Given the description of an element on the screen output the (x, y) to click on. 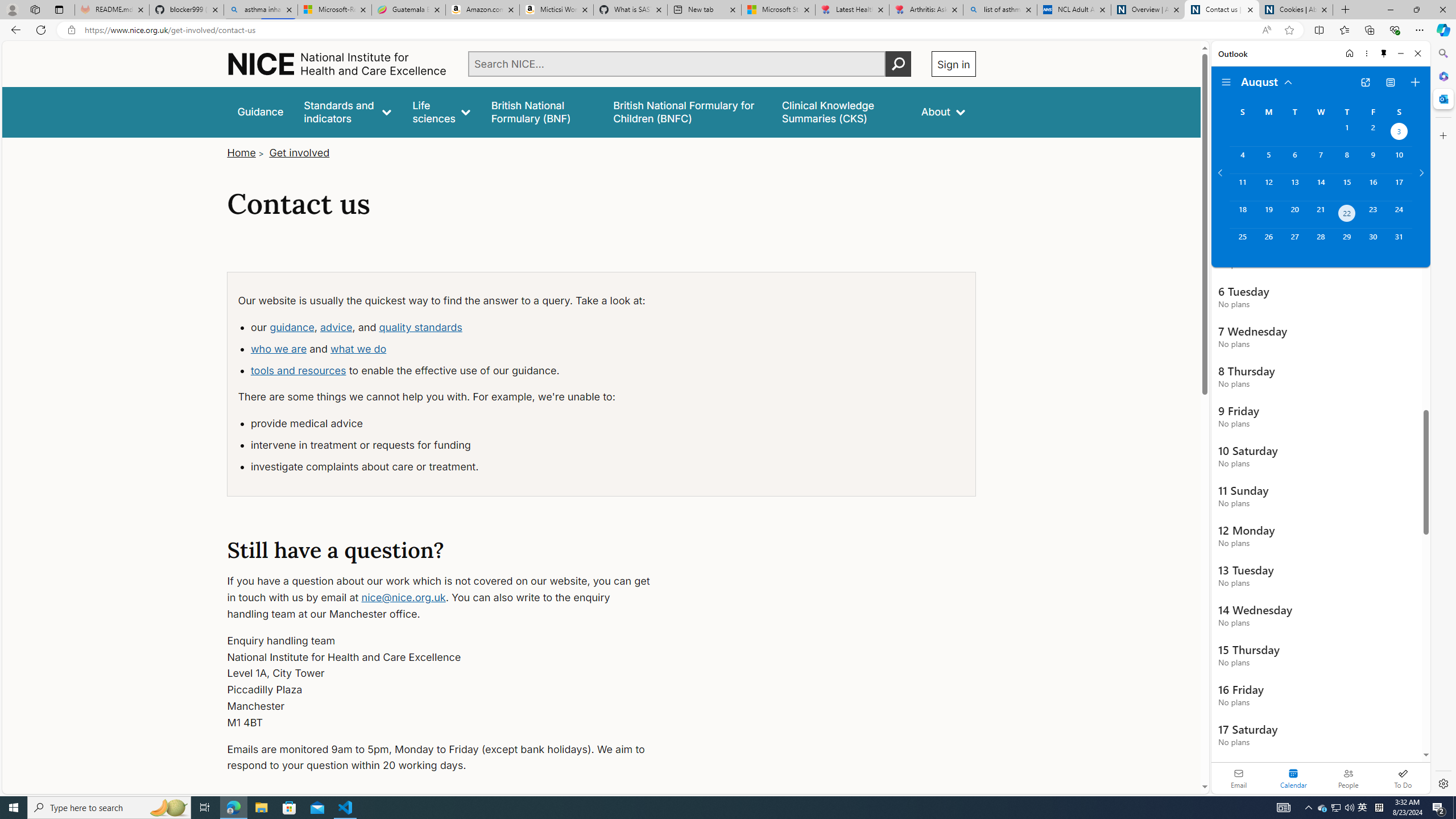
Saturday, August 31, 2024.  (1399, 241)
Monday, August 5, 2024.  (1268, 159)
Saturday, August 3, 2024. Date selected.  (1399, 132)
guidance (291, 327)
advice (336, 327)
Wednesday, August 7, 2024.  (1320, 159)
Folder navigation (1225, 82)
Email (1238, 777)
Friday, August 30, 2024.  (1372, 241)
Saturday, August 17, 2024.  (1399, 186)
Wednesday, August 21, 2024.  (1320, 214)
